Given the description of an element on the screen output the (x, y) to click on. 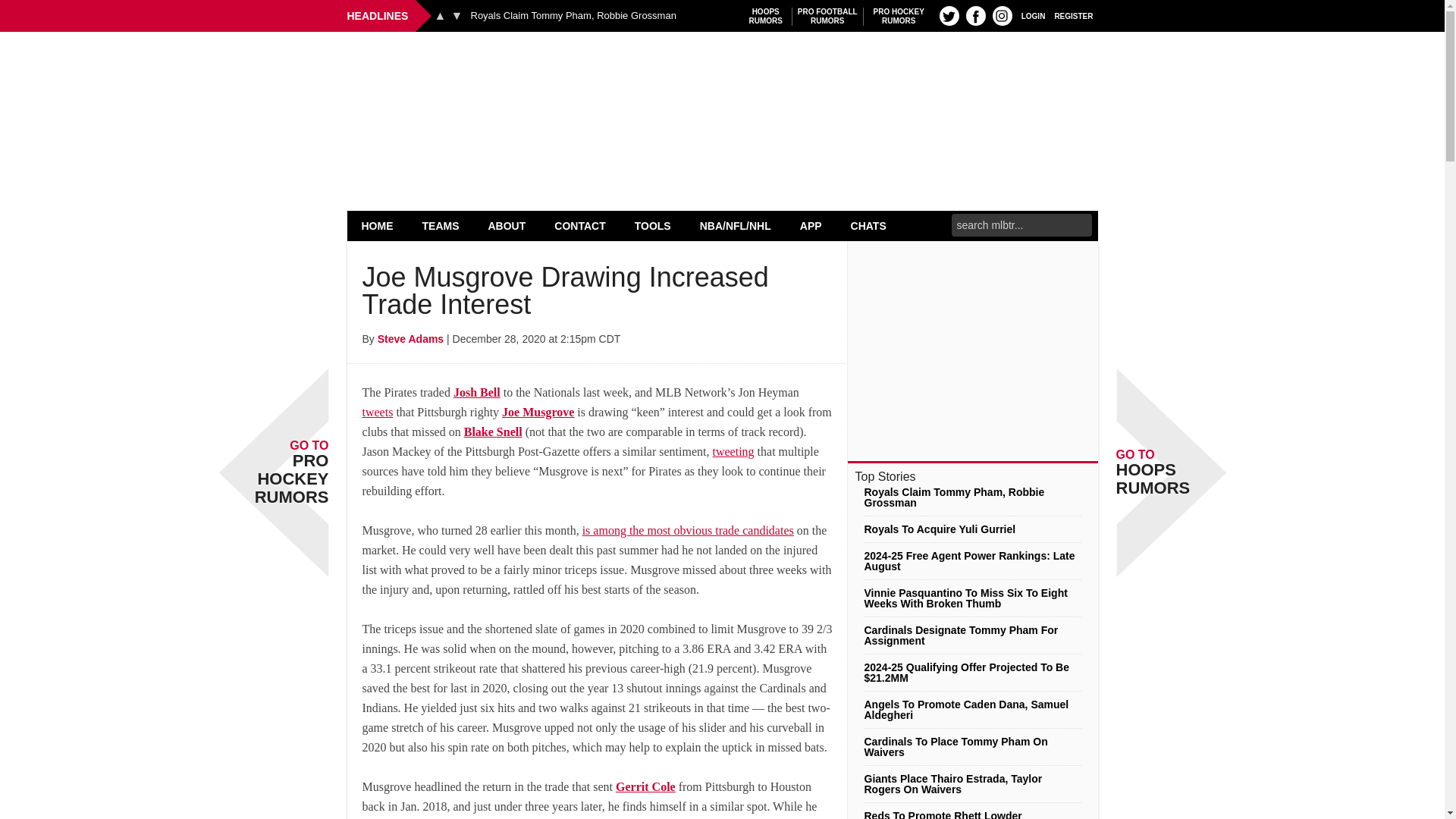
Previous (439, 15)
REGISTER (1073, 15)
TEAMS (440, 225)
HOME (377, 225)
FB profile (898, 16)
LOGIN (975, 15)
Next (1032, 15)
Search (456, 15)
